Given the description of an element on the screen output the (x, y) to click on. 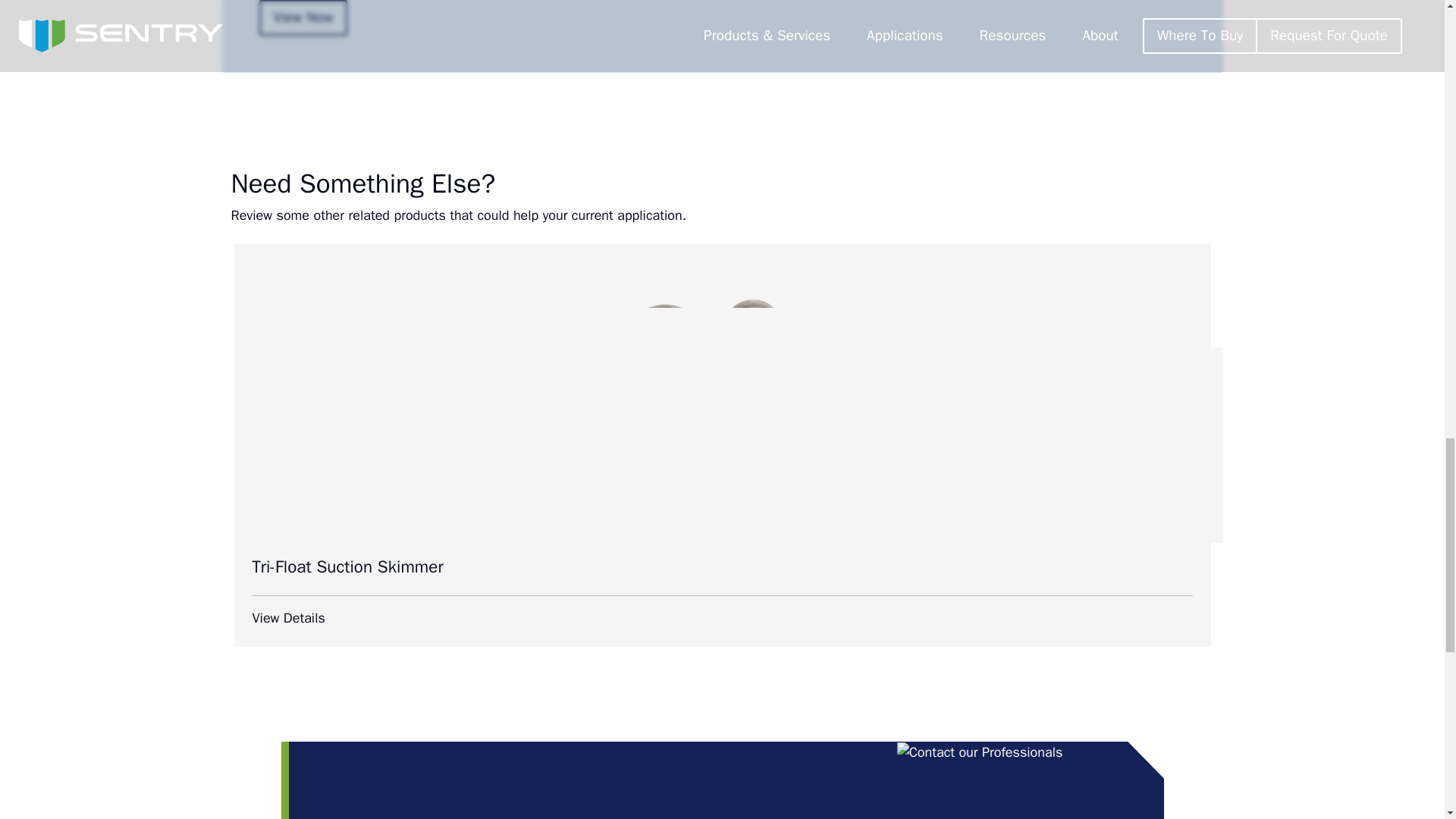
View Details (721, 618)
View Now (303, 18)
